Given the description of an element on the screen output the (x, y) to click on. 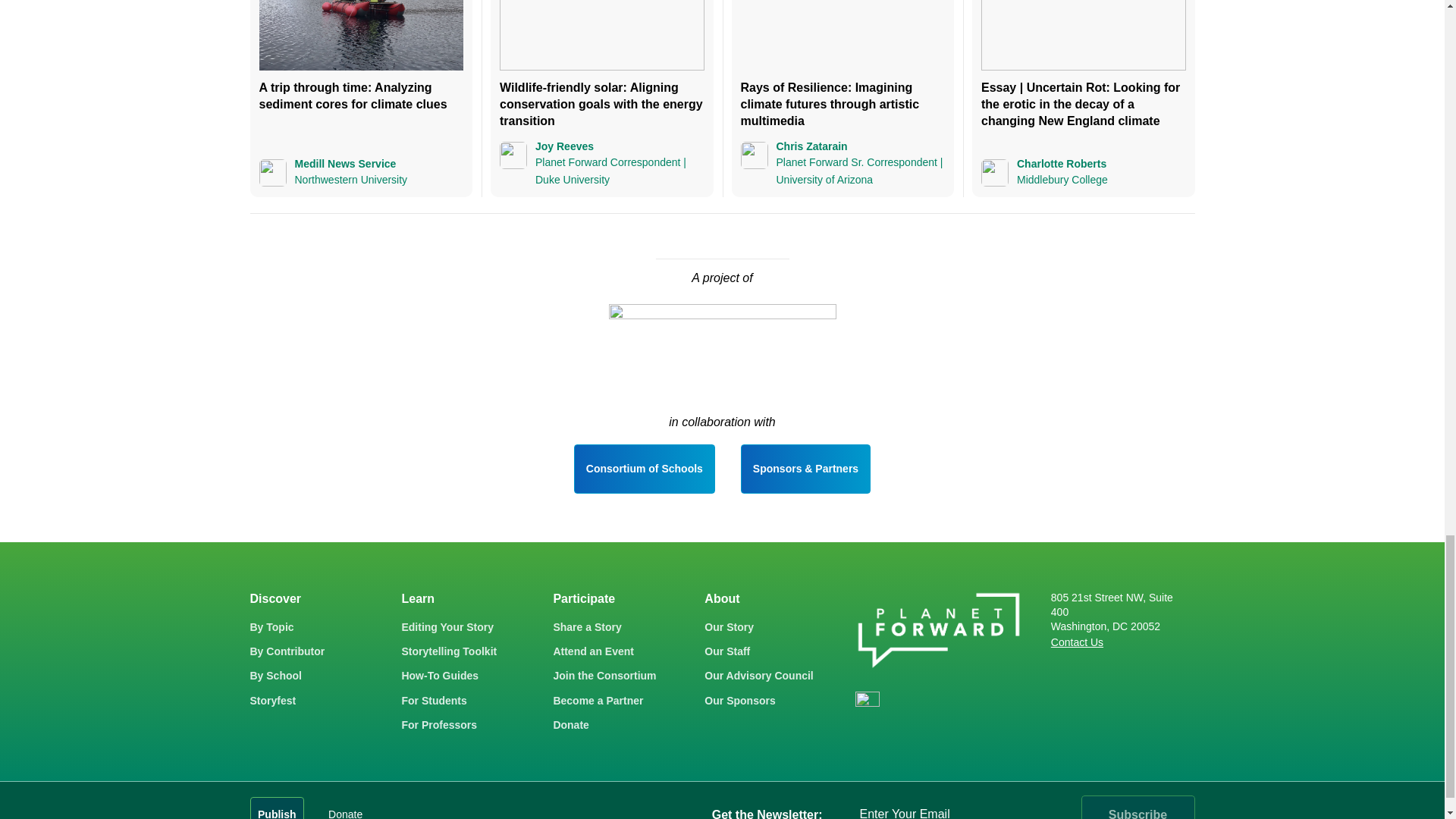
Subscribe (1138, 807)
